Given the description of an element on the screen output the (x, y) to click on. 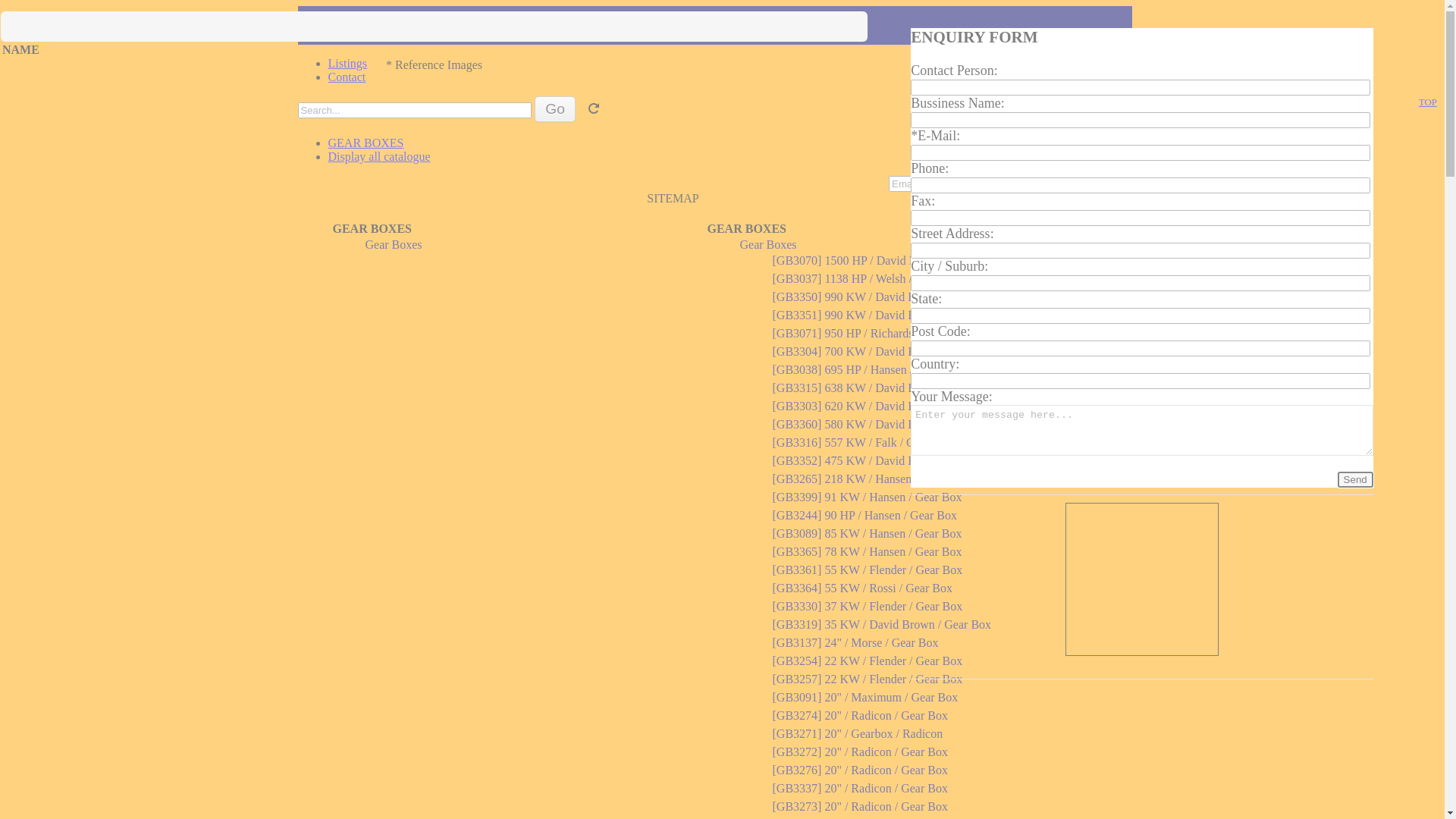
[GB3274] 20" / Radicon / Gear Box Element type: text (859, 715)
[GB3244] 90 HP / Hansen / Gear Box Element type: text (863, 514)
[GB3351] 990 KW / David Brown / Gear Box Element type: text (884, 314)
[GB3303] 620 KW / David Brown / Gear Box Element type: text (884, 405)
[GB3272] 20" / Radicon / Gear Box Element type: text (859, 751)
[GB3361] 55 KW / Flender / Gear Box Element type: text (866, 569)
[GB3037] 1138 HP / Welsh / Gear Box Element type: text (866, 278)
[GB3319] 35 KW / David Brown / Gear Box Element type: text (881, 624)
GEAR BOXES Element type: text (745, 228)
Unsubscribe Newsletters Element type: text (1084, 183)
[GB3352] 475 KW / David Brown / Gear Box Element type: text (884, 460)
[GB3091] 20" / Maximum / Gear Box Element type: text (864, 696)
[GB3254] 22 KW / Flender / Gear Box Element type: text (866, 660)
[GB3071] 950 HP / Richardson / Gear Box Element type: text (876, 332)
[GB3315] 638 KW / David Brown / Gear Box Element type: text (884, 387)
[GB3399] 91 KW / Hansen / Gear Box Element type: text (866, 496)
[GB3330] 37 KW / Flender / Gear Box Element type: text (866, 605)
Gear Boxes Element type: text (393, 244)
[GB3137] 24" / Morse / Gear Box Element type: text (854, 642)
[GB3276] 20" / Radicon / Gear Box Element type: text (859, 769)
GEAR BOXES Element type: text (371, 228)
[GB3316] 557 KW / Falk / Gear Box Element type: text (861, 442)
[GB3350] 990 KW / David Brown / Gear Box Element type: text (884, 296)
GEAR BOXES Element type: text (365, 142)
[GB3360] 580 KW / David Brown / Gear Box Element type: text (884, 423)
Contact Element type: text (346, 76)
[GB3089] 85 KW / Hansen / Gear Box Element type: text (866, 533)
[GB3304] 700 KW / David Brown / Gear Box Element type: text (884, 351)
Gear Boxes Element type: text (768, 244)
Send Element type: text (1355, 479)
[GB3364] 55 KW / Rossi / Gear Box Element type: text (861, 587)
[GB3070] 1500 HP / David Brown / Gear Box Element type: text (884, 260)
Listings Element type: text (347, 62)
[GB3265] 218 KW / Hansen / Gear Box Element type: text (869, 478)
[GB3337] 20" / Radicon / Gear Box Element type: text (859, 787)
Display all catalogue Element type: text (378, 156)
[GB3273] 20" / Radicon / Gear Box Element type: text (859, 806)
[GB3257] 22 KW / Flender / Gear Box Element type: text (866, 678)
[GB3271] 20" / Gearbox / Radicon Element type: text (856, 733)
TOP Element type: text (1427, 102)
Go Element type: text (554, 109)
[GB3365] 78 KW / Hansen / Gear Box Element type: text (866, 551)
[GB3038] 695 HP / Hansen / Gear Box Element type: text (866, 369)
Name Element type: hover (1141, 663)
